Given the description of an element on the screen output the (x, y) to click on. 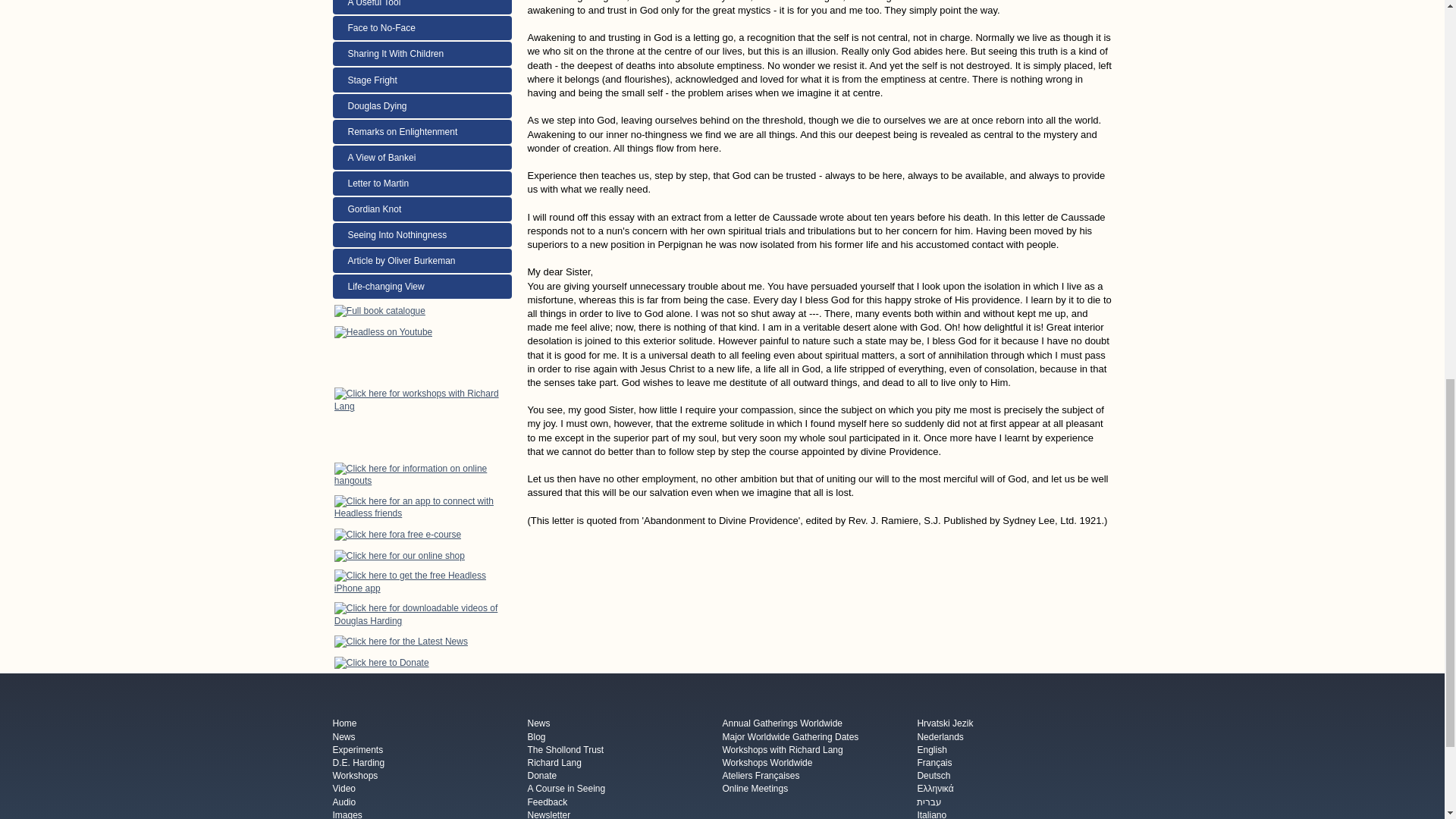
Headless Way Full Book Catalogue (379, 310)
